Given the description of an element on the screen output the (x, y) to click on. 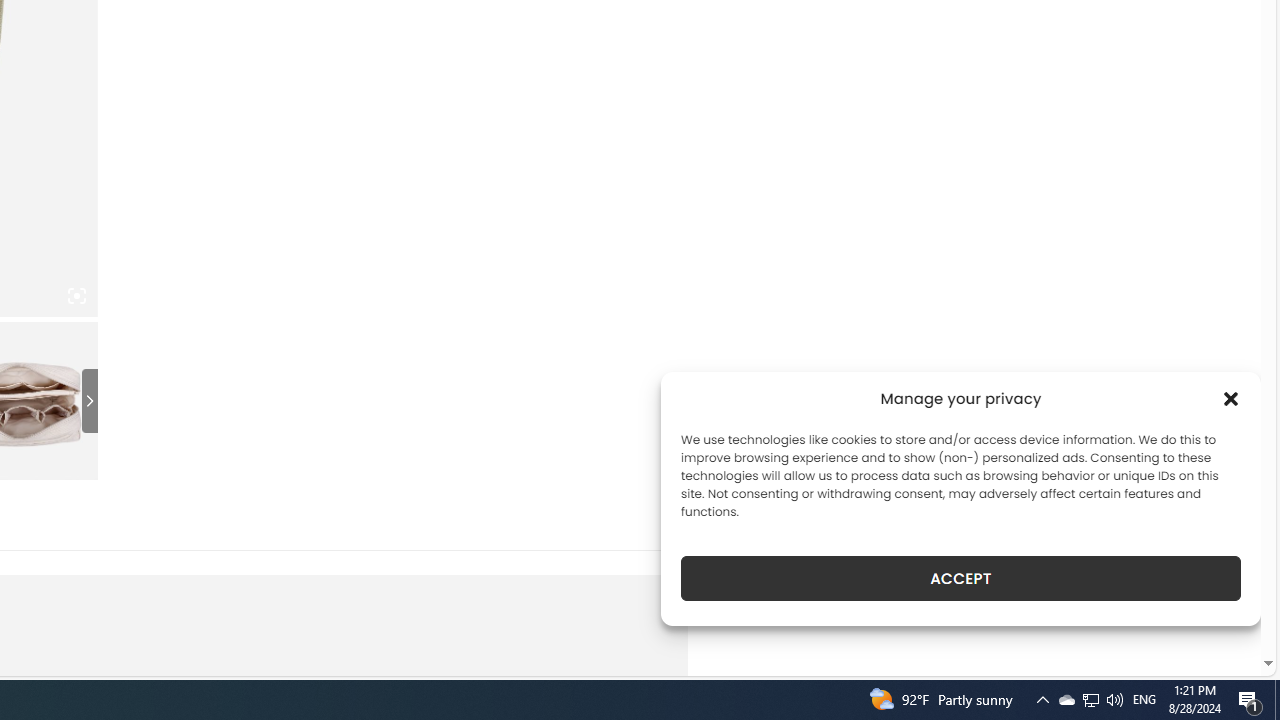
Class: cmplz-close (1231, 398)
Class: iconic-woothumbs-fullscreen (75, 296)
ACCEPT (960, 578)
